Given the description of an element on the screen output the (x, y) to click on. 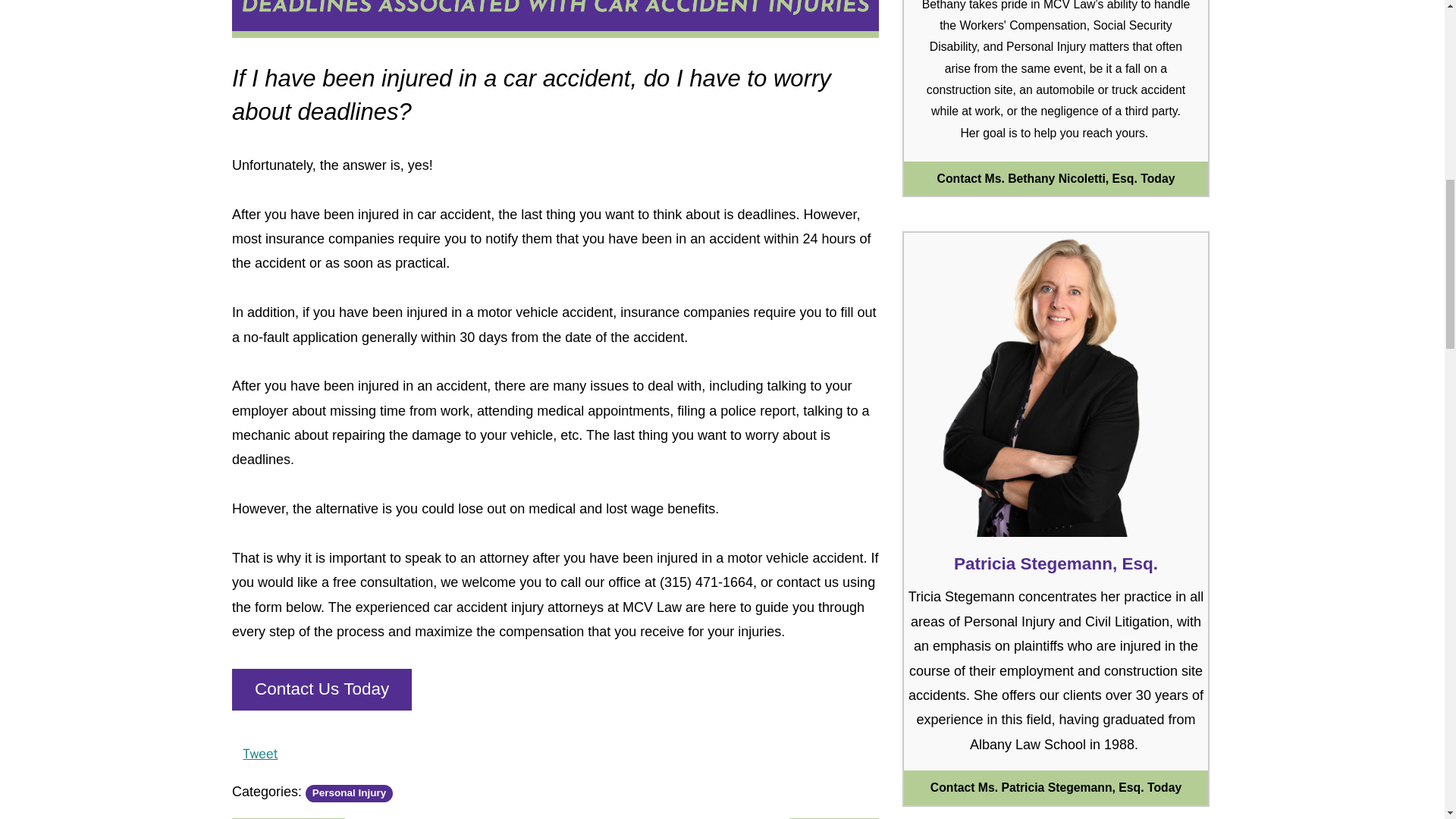
Contact Us (1056, 383)
Contact Us (321, 690)
Contact Us (1056, 178)
Contact Us (1056, 787)
